Given the description of an element on the screen output the (x, y) to click on. 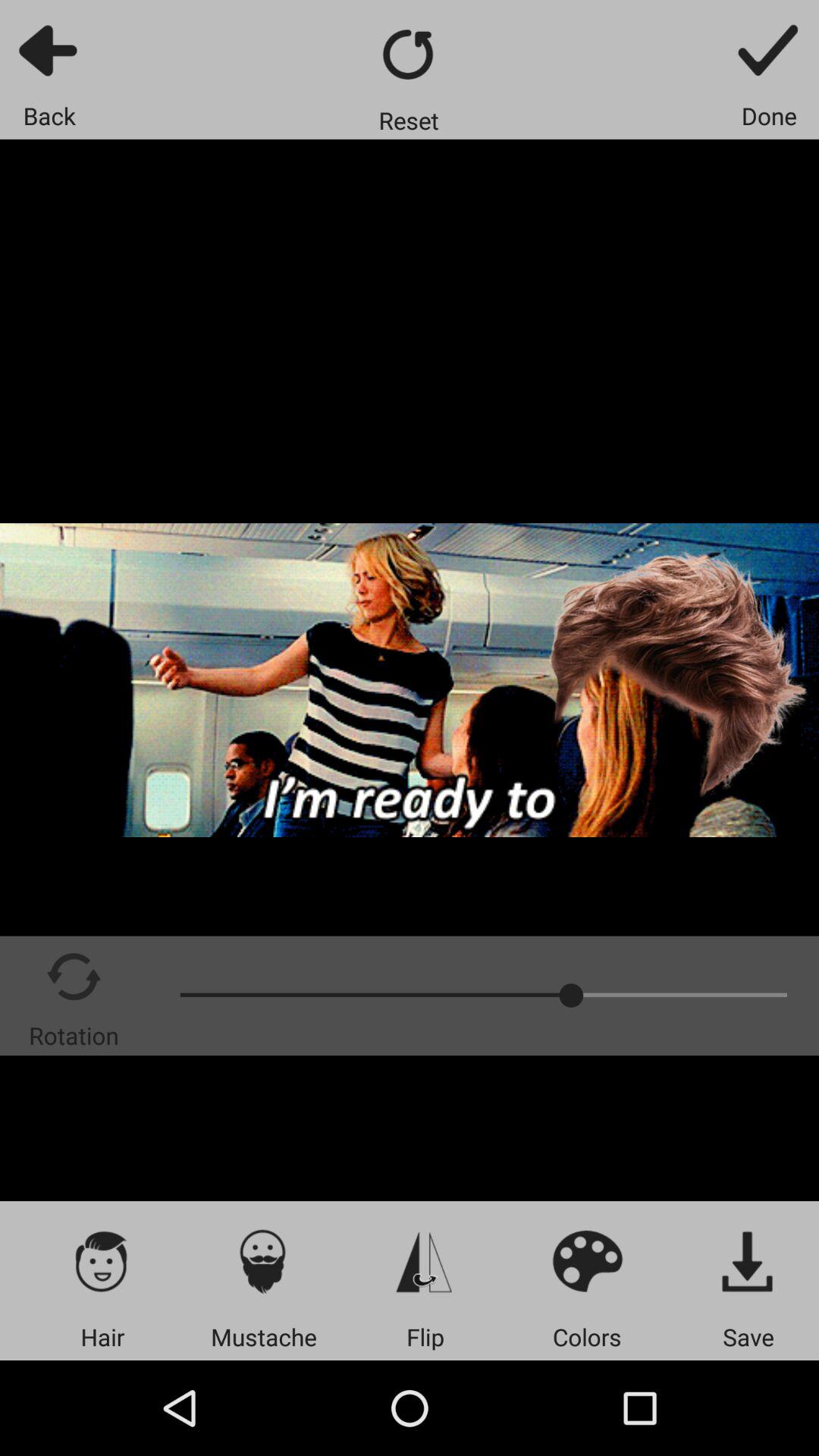
modify hair (102, 1260)
